Given the description of an element on the screen output the (x, y) to click on. 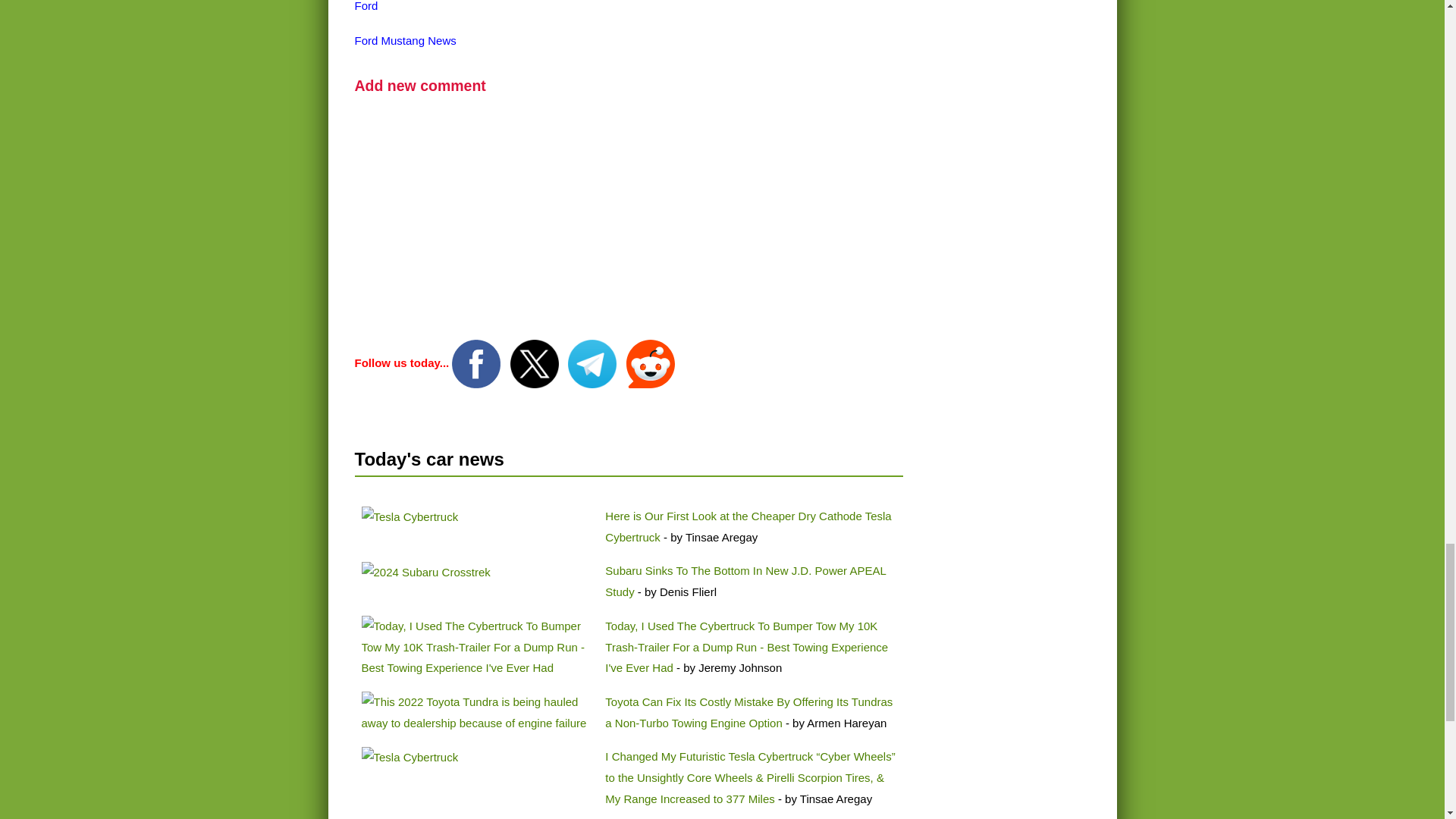
Add new comment (420, 85)
Join us on Telegram! (593, 362)
Subaru Sinks To The Bottom In New J.D. Power APEAL Study (745, 581)
2024 Subaru Crosstrek side view in San Fransisco (425, 572)
Share your thoughts and opinions. (420, 85)
Ford Mustang News (406, 40)
Join us on Reddit! (650, 362)
Ford (366, 6)
